Given the description of an element on the screen output the (x, y) to click on. 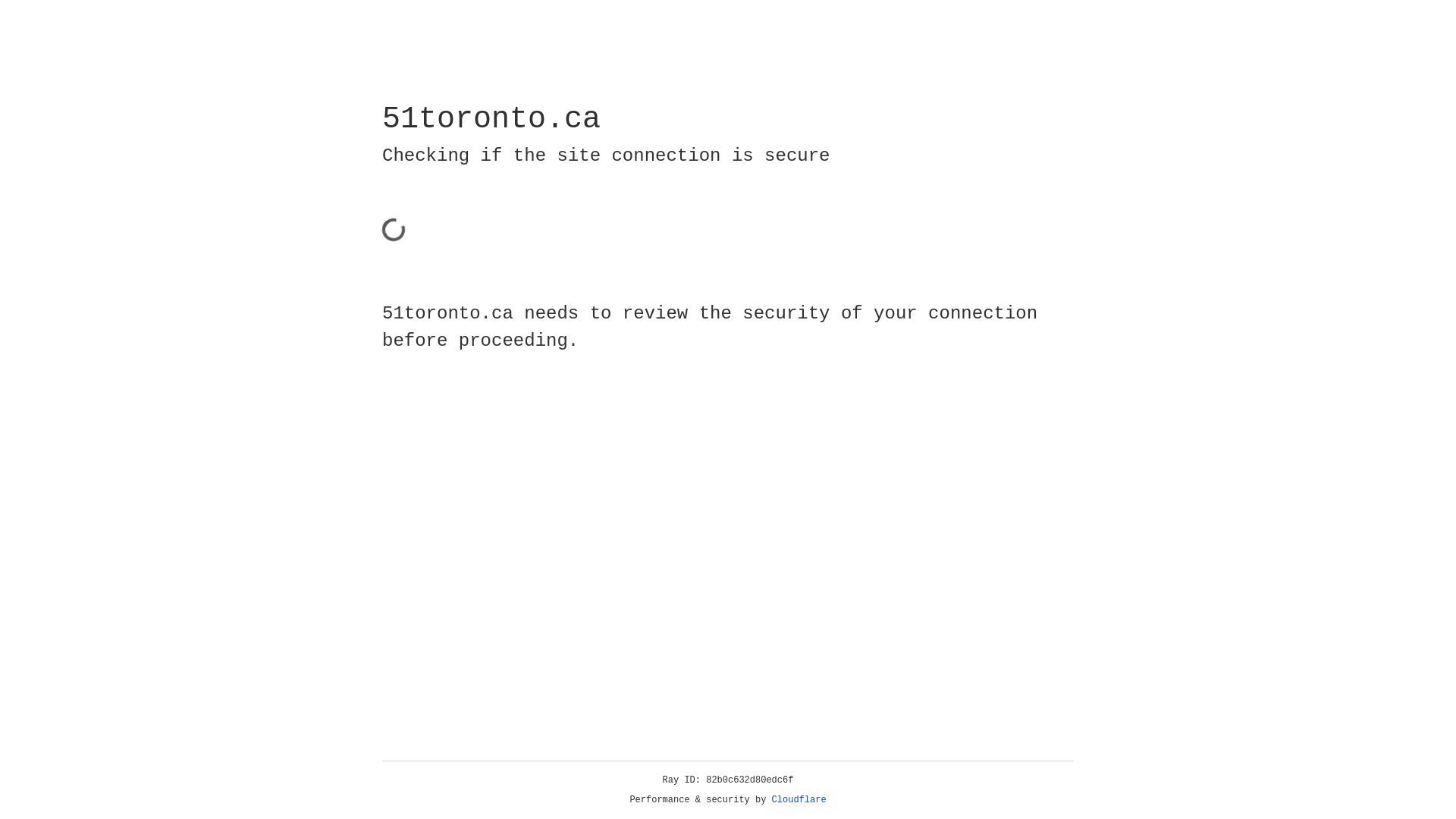
Cloudflare Element type: text (798, 799)
